Given the description of an element on the screen output the (x, y) to click on. 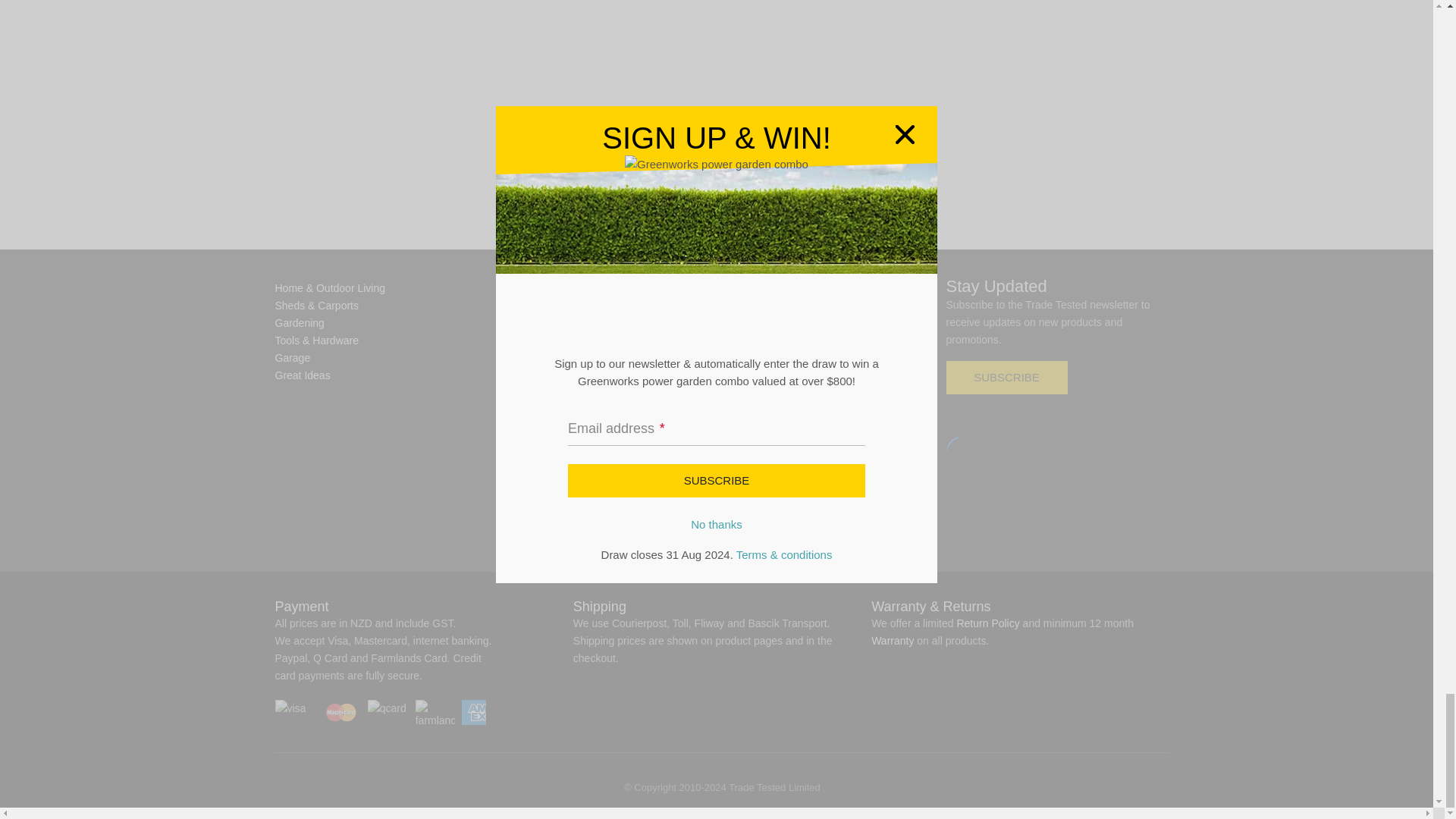
Auckland Store (534, 322)
Pre-Orders (525, 357)
About Us (521, 287)
Great Ideas (302, 375)
Gardening (299, 322)
Contact Us (525, 305)
Garage (292, 357)
Shipping (519, 340)
Google Review Widget (960, 451)
Great Ideas (302, 375)
Garage (292, 357)
Gardening (299, 322)
